Given the description of an element on the screen output the (x, y) to click on. 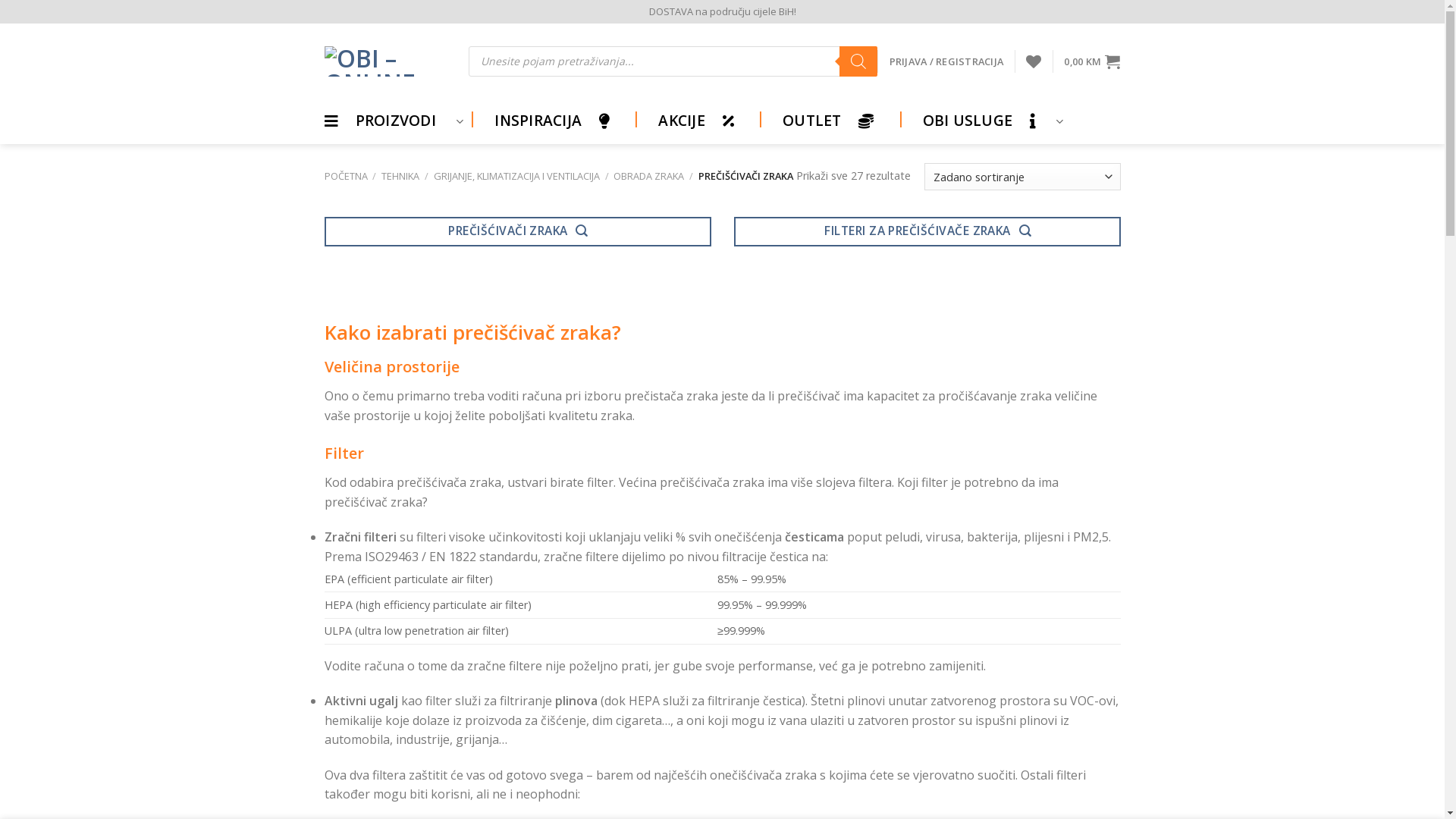
OBI
PROIZVODI
OBI Element type: text (394, 121)
OBI
INSPIRACIJA
OBI
OBI Element type: text (552, 121)
TEHNIKA Element type: text (400, 175)
GRIJANJE, KLIMATIZACIJA I VENTILACIJA Element type: text (516, 175)
 | Element type: text (634, 121)
0,00 KM Element type: text (1091, 61)
OBRADA ZRAKA Element type: text (648, 175)
 | Element type: text (758, 121)
 | Element type: text (898, 121)
 | Element type: text (470, 121)
OBI
OBI USLUGE
OBI
OBI Element type: text (984, 121)
OBI
AKCIJE
OBI
OBI Element type: text (696, 121)
OBI
OUTLET
OBI
OBI Element type: text (828, 121)
PRIJAVA / REGISTRACIJA Element type: text (946, 61)
